Given the description of an element on the screen output the (x, y) to click on. 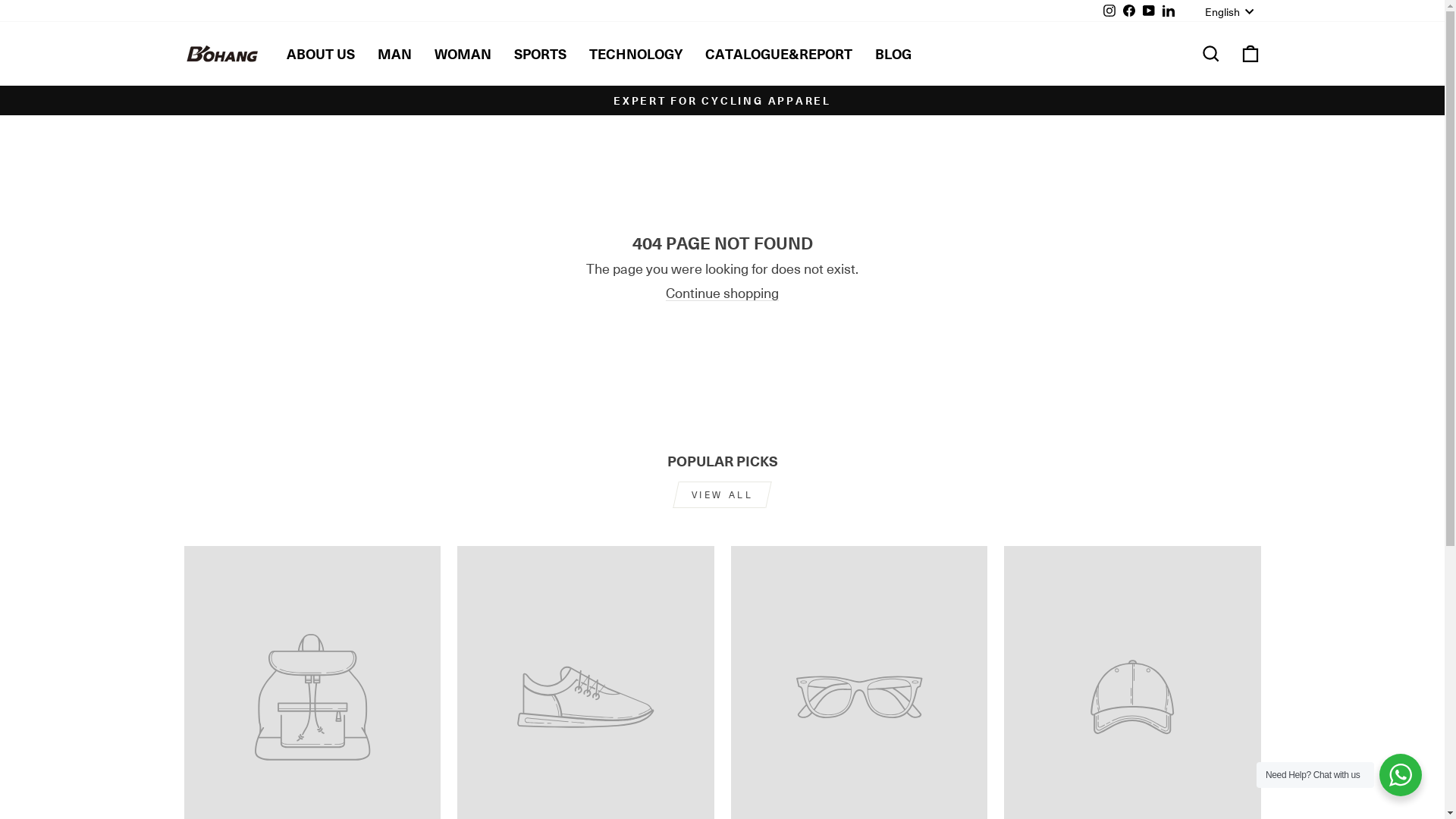
SEARCH Element type: text (1210, 53)
SPORTS Element type: text (539, 54)
VIEW ALL Element type: text (722, 494)
Instagram Element type: text (1109, 10)
ABOUT US Element type: text (319, 54)
LinkedIn Element type: text (1168, 10)
BLOG Element type: text (892, 54)
Continue shopping Element type: text (721, 292)
Facebook Element type: text (1129, 10)
YouTube Element type: text (1148, 10)
MAN Element type: text (393, 54)
CATALOGUE&REPORT Element type: text (777, 54)
WOMAN Element type: text (462, 54)
English Element type: text (1231, 10)
CART Element type: text (1249, 53)
TECHNOLOGY Element type: text (635, 54)
